Given the description of an element on the screen output the (x, y) to click on. 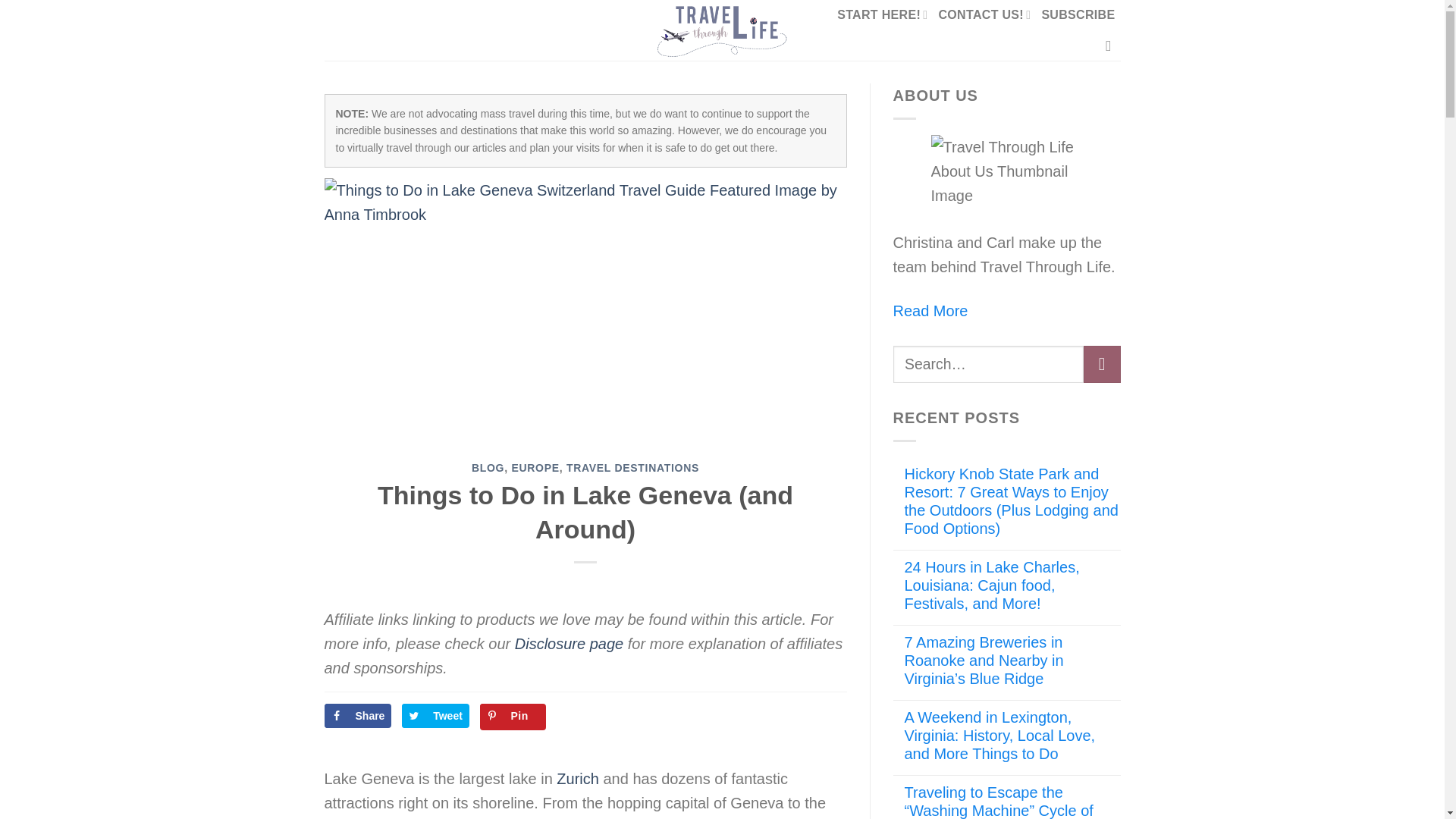
Pin (513, 716)
Share (357, 715)
START HERE! (882, 14)
Zurich (577, 778)
Share on Facebook (357, 715)
Save to Pinterest (513, 716)
Share on Twitter (434, 715)
EUROPE (535, 467)
BLOG (487, 467)
CONTACT US! (983, 14)
TRAVEL DESTINATIONS (632, 467)
Disclosure page (569, 643)
